Given the description of an element on the screen output the (x, y) to click on. 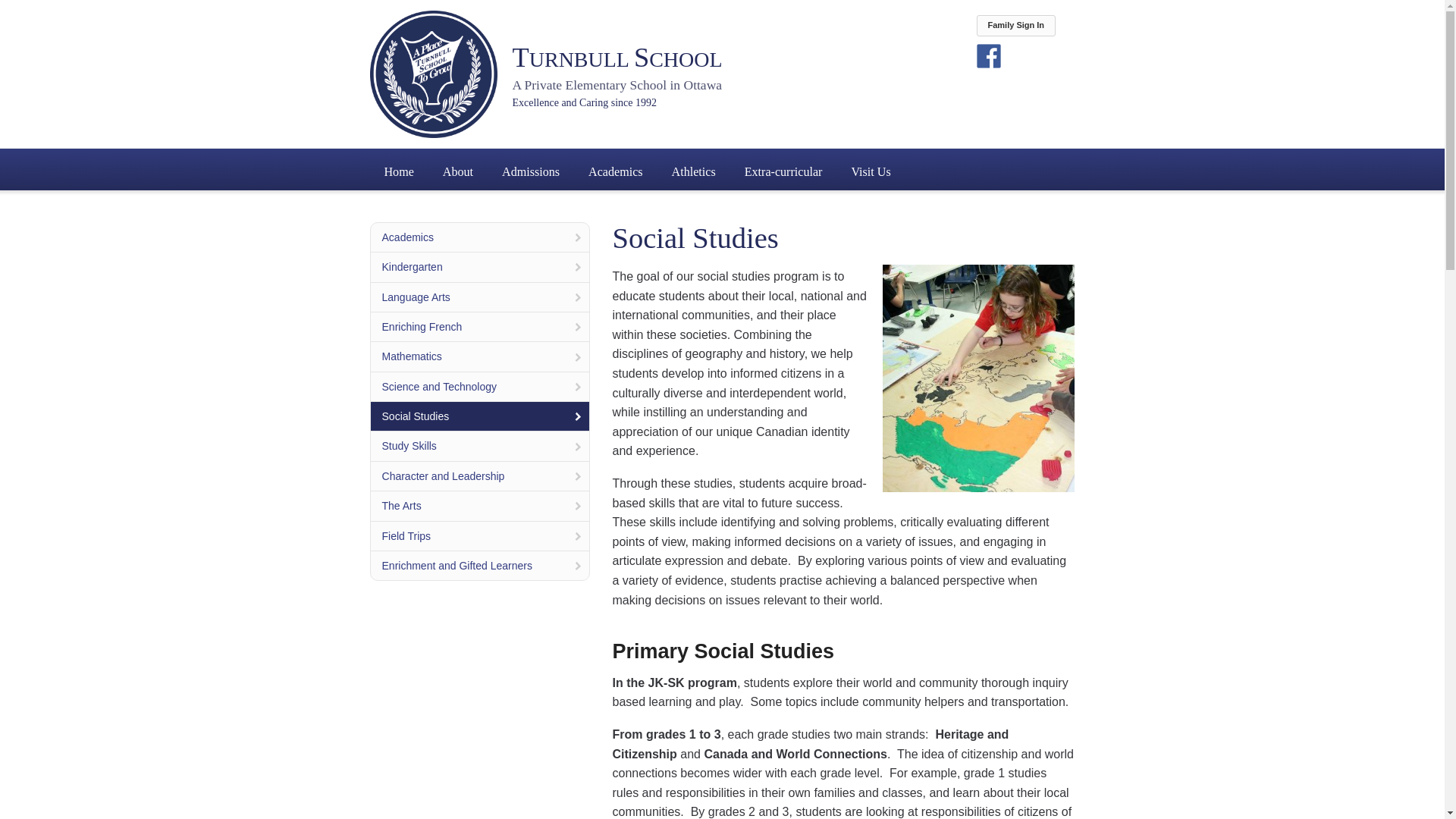
Home (397, 170)
Admissions (531, 170)
Family Sign In (1016, 25)
Academics (615, 170)
Extra-curricular (782, 170)
Athletics (693, 170)
About (457, 170)
